Given the description of an element on the screen output the (x, y) to click on. 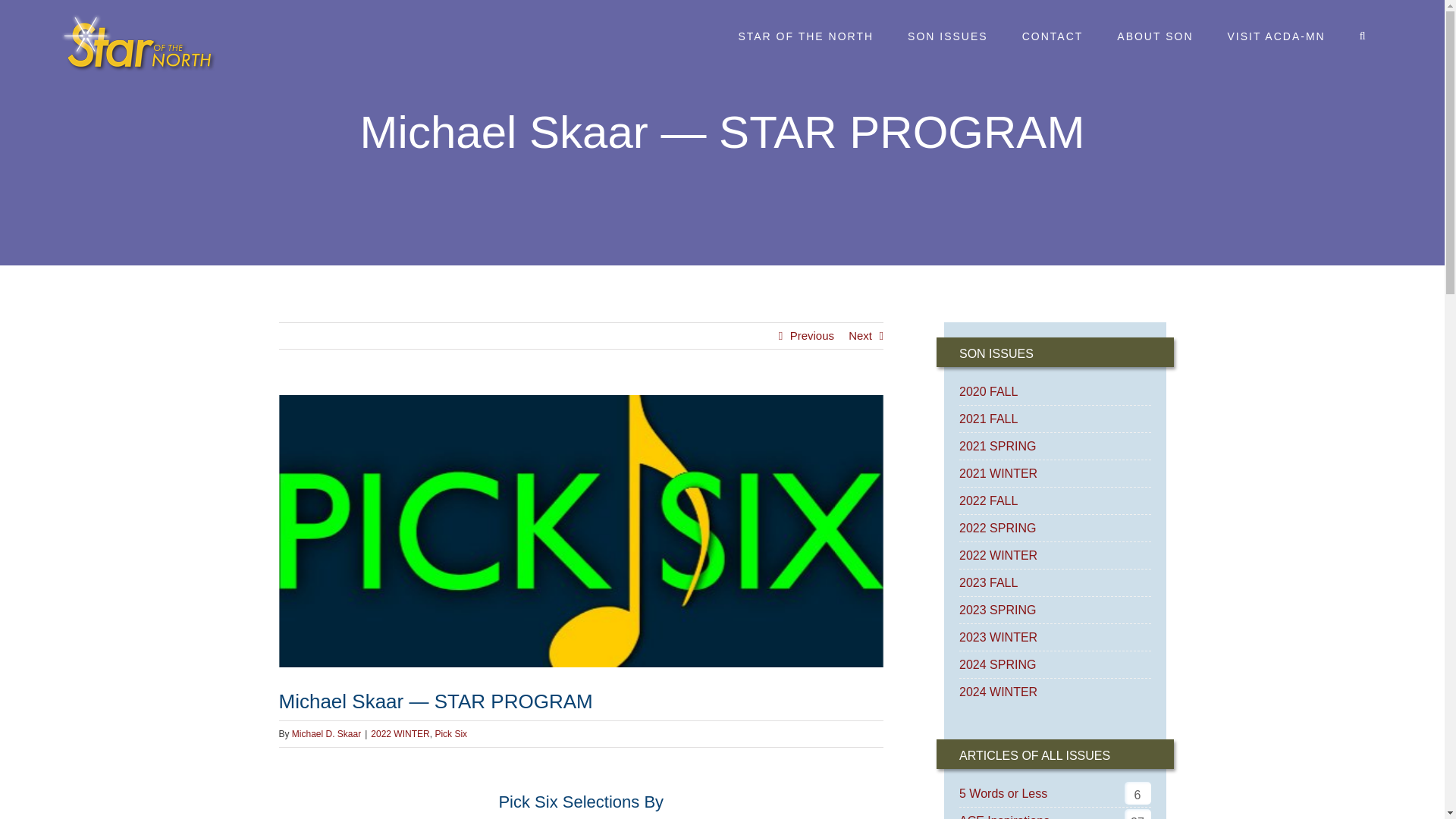
Search (1363, 36)
VISIT ACDA-MN (1275, 36)
ABOUT SON (1154, 36)
2022 WINTER (400, 733)
STAR OF THE NORTH (805, 36)
SON ISSUES (948, 36)
Next (860, 335)
Michael D. Skaar (326, 733)
CONTACT (1052, 36)
Previous (812, 335)
Posts by Michael D. Skaar (326, 733)
Pick Six (450, 733)
